Given the description of an element on the screen output the (x, y) to click on. 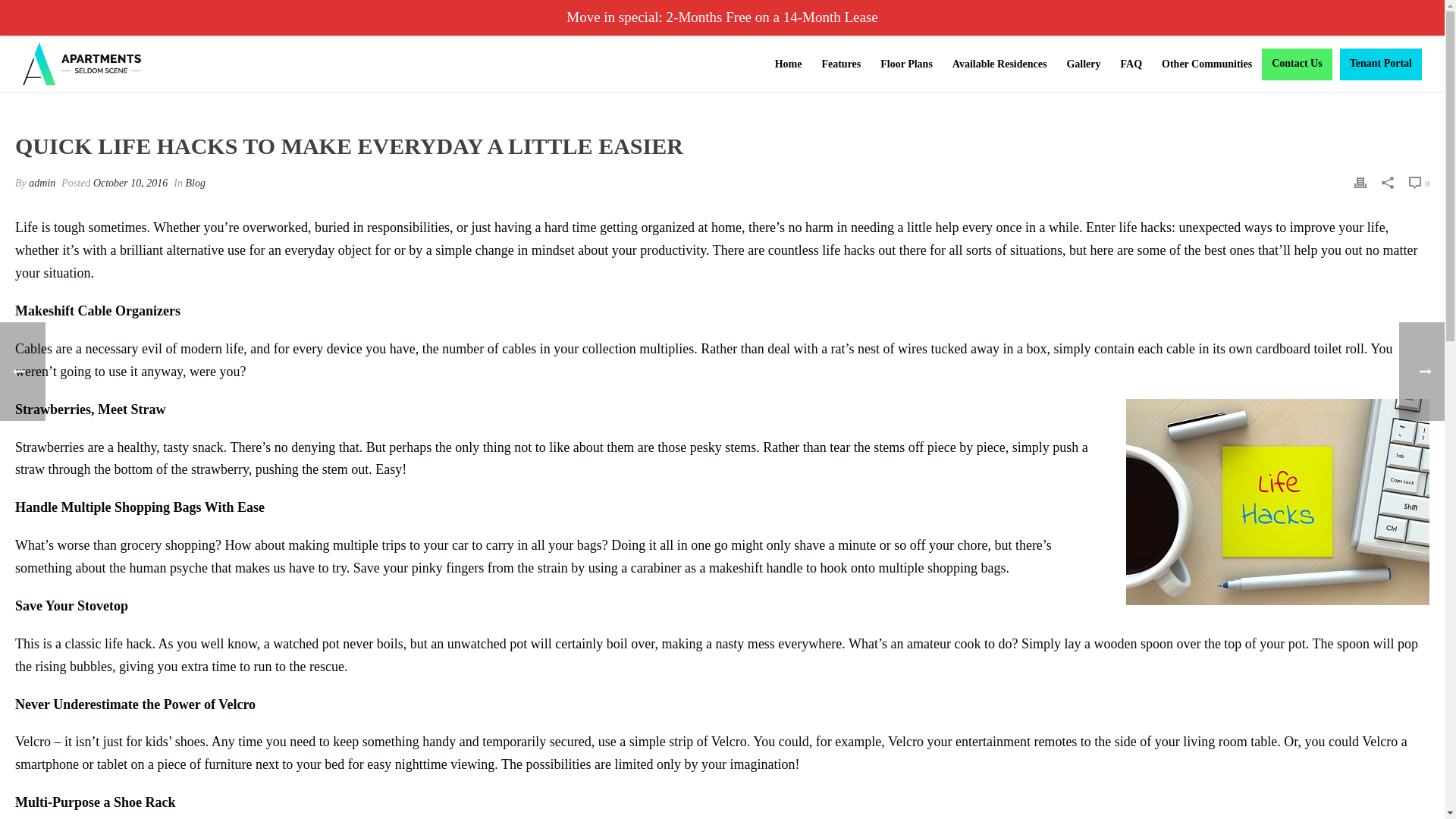
Floor Plans (906, 64)
FAQ (1131, 64)
FAQ (1131, 64)
Home (788, 64)
Gallery (1083, 64)
Gallery (1083, 64)
Tenant Portal (1380, 74)
Posts by admin (42, 183)
Tenant Portal (1380, 74)
admin (42, 183)
Other Communities (1206, 64)
Floor Plans (906, 64)
Blog (194, 183)
October 10, 2016 (130, 183)
Home (788, 64)
